Given the description of an element on the screen output the (x, y) to click on. 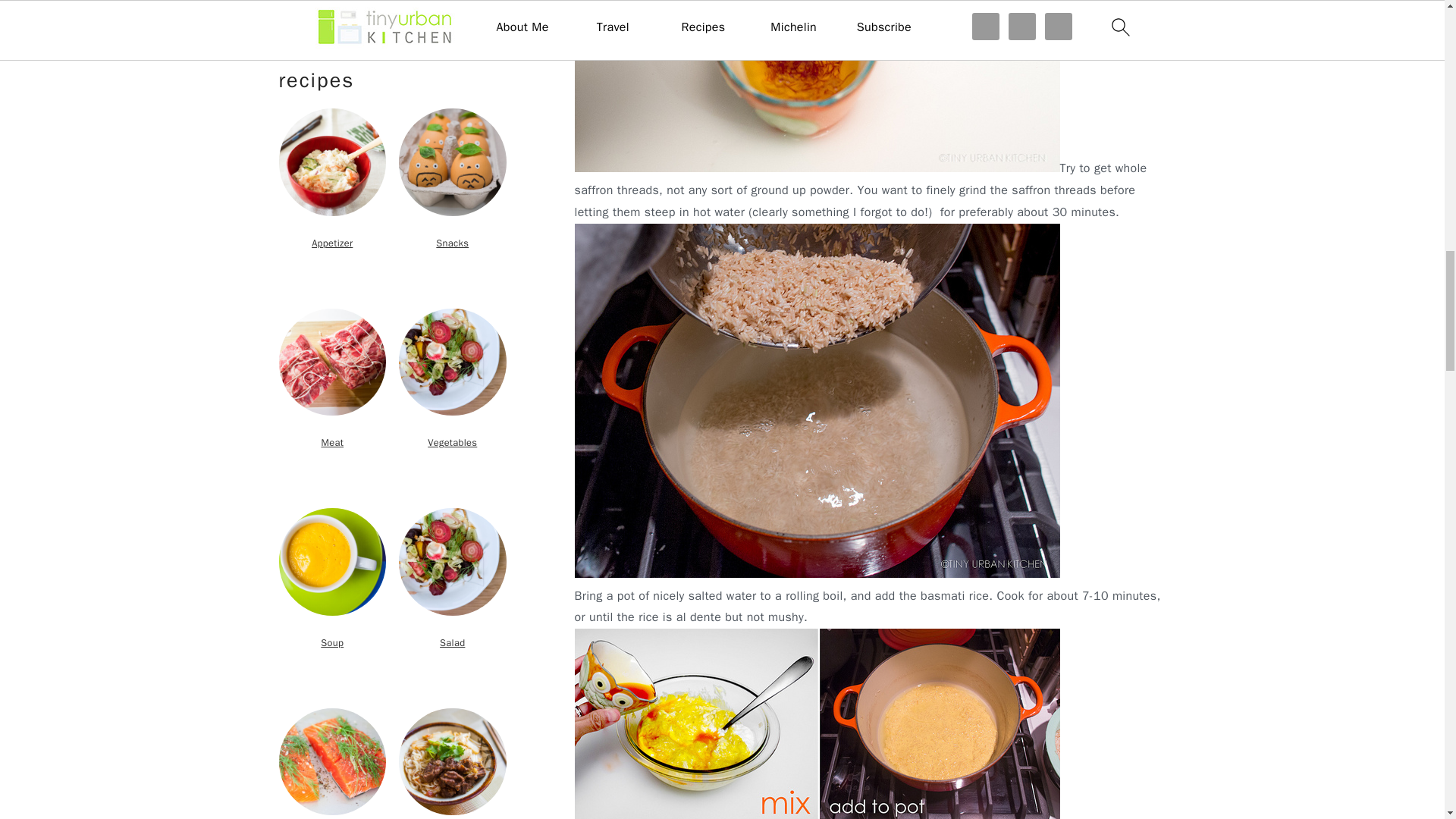
Untitled by tinyurbankitchen, on Flickr (817, 168)
Untitled by tinyurbankitchen, on Flickr (817, 573)
